Given the description of an element on the screen output the (x, y) to click on. 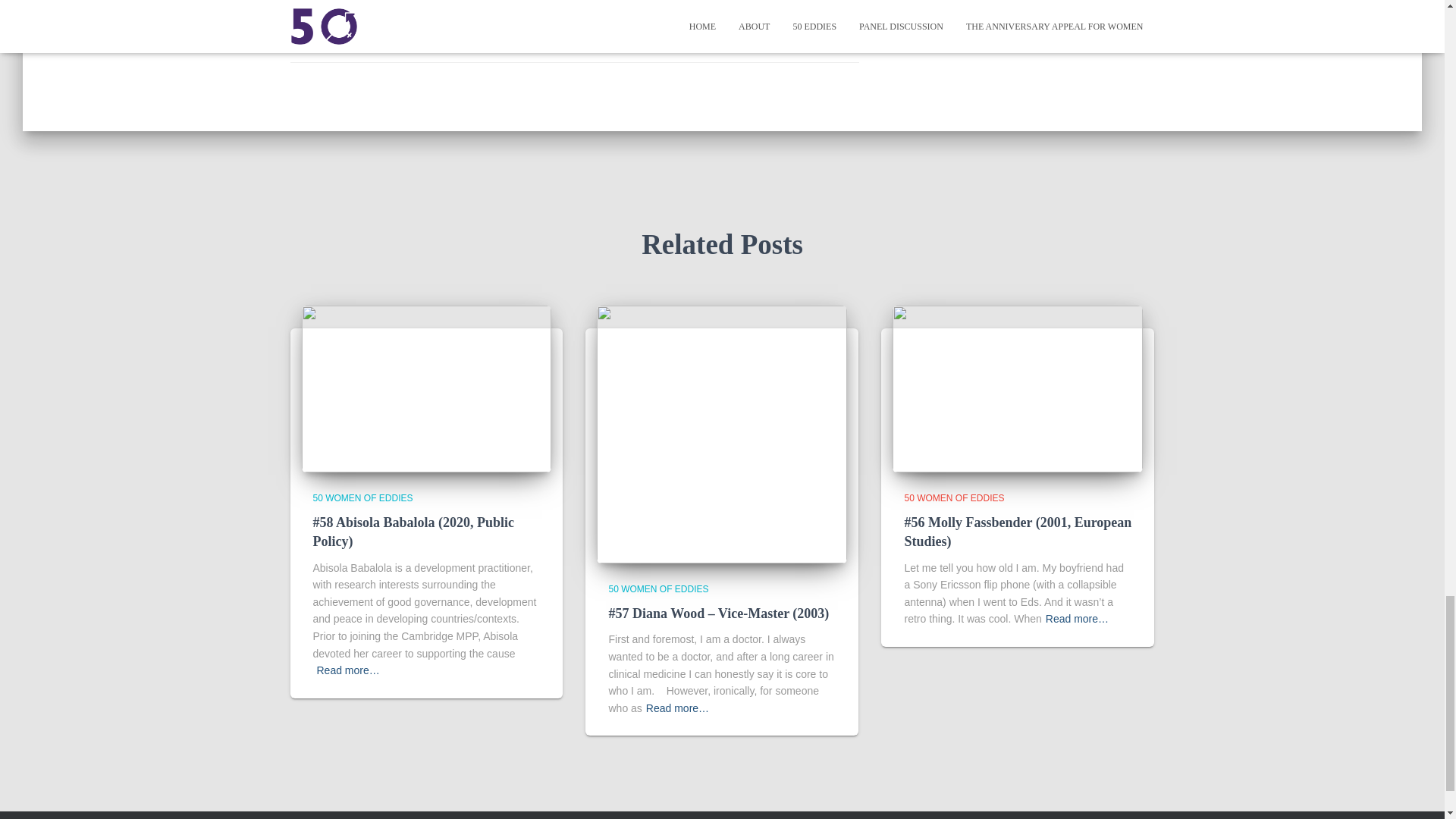
50 WOMEN OF EDDIES (402, 10)
View all posts in 50 Women of Eddies (657, 588)
View all posts in 50 Women of Eddies (954, 498)
50 WOMEN OF EDDIES (362, 498)
View all posts in 50 Women of Eddies (362, 498)
